Given the description of an element on the screen output the (x, y) to click on. 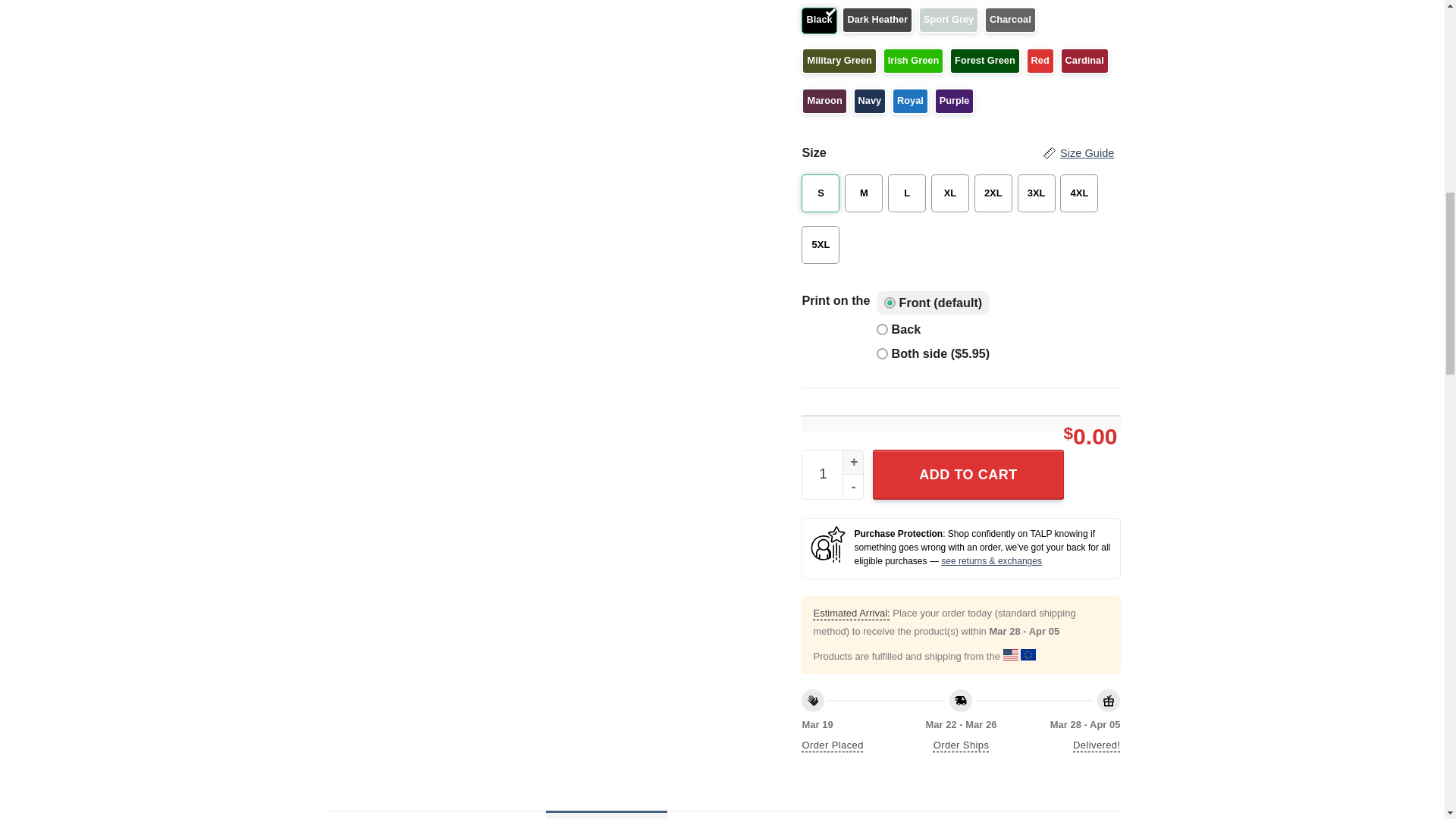
1 (832, 474)
